Given the description of an element on the screen output the (x, y) to click on. 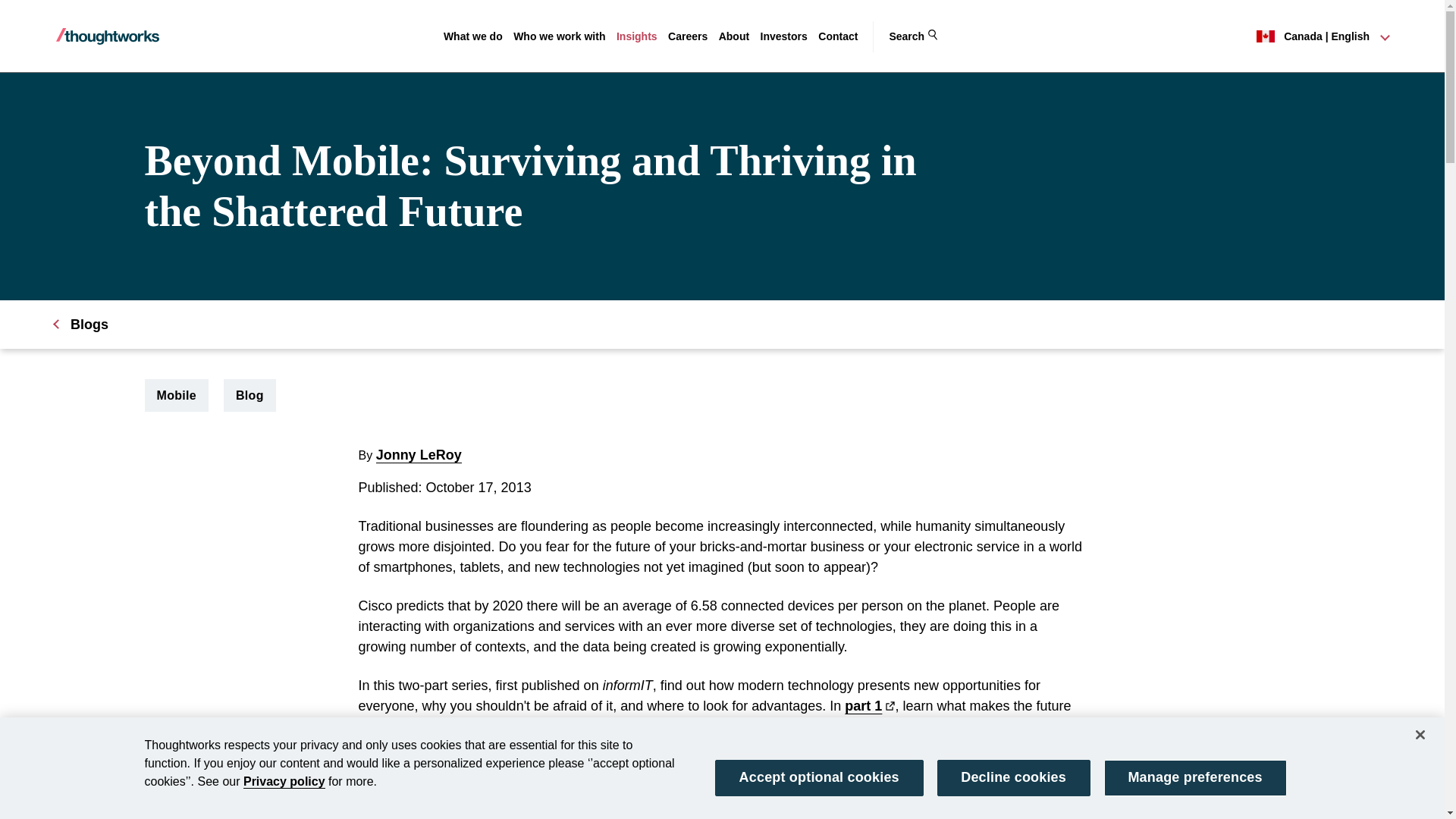
Who we work with (559, 36)
Thoughtworks (107, 36)
Insights (636, 36)
Careers (687, 36)
Insights (636, 36)
Thoughtworks (107, 36)
Who we work with (559, 36)
What we do (473, 36)
What we do (473, 36)
